Given the description of an element on the screen output the (x, y) to click on. 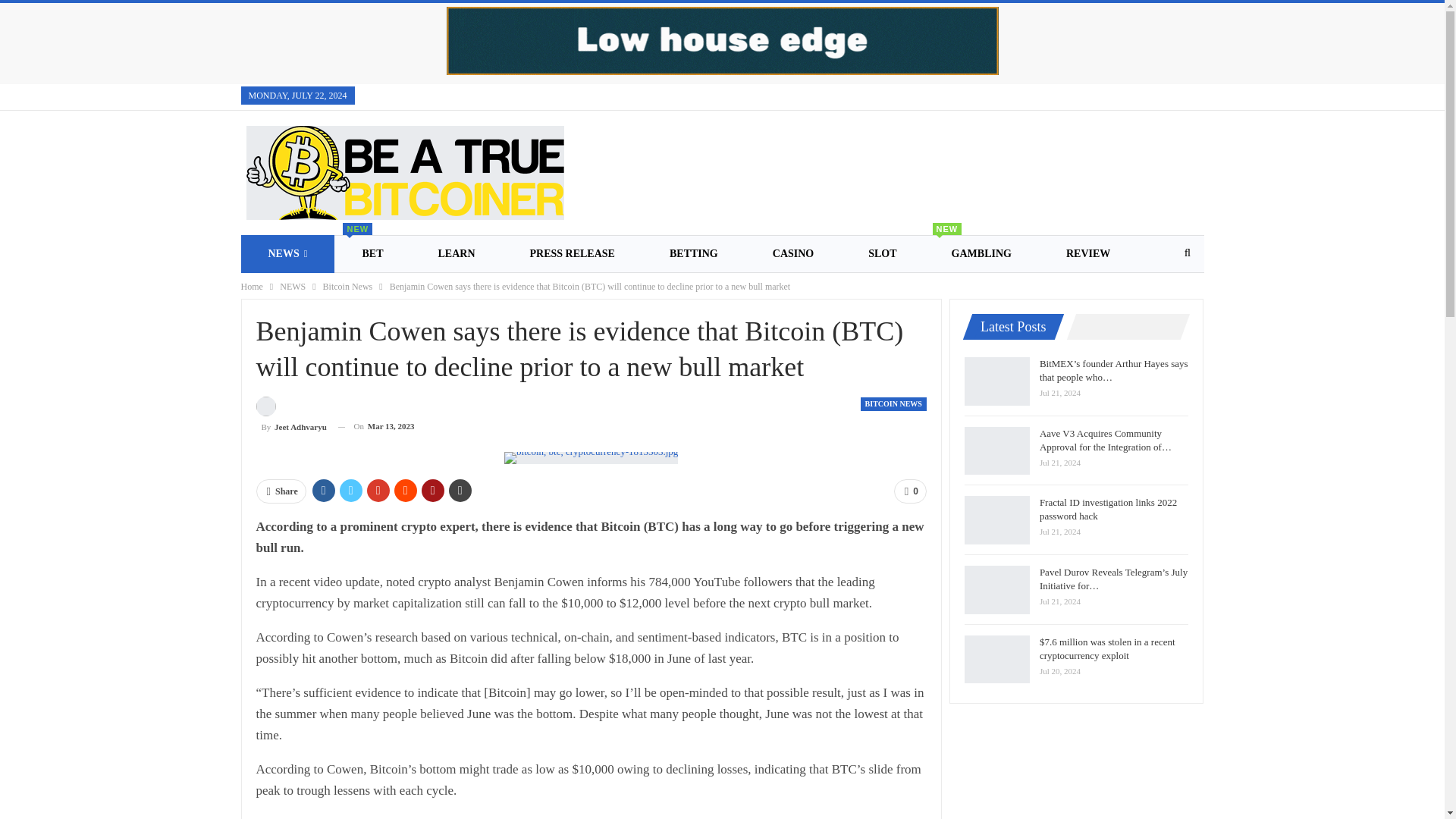
BETTING (981, 253)
NEWS (693, 253)
SERVICES (287, 253)
NEWS (404, 291)
ABOUT US (292, 286)
REVIEW (781, 291)
DISCLAIMER (1088, 253)
CASINO (666, 291)
Browse Author Articles (793, 253)
0 (291, 416)
PRIVACY POLICY (909, 491)
BITCOIN NEWS (531, 291)
DISCOVER (893, 404)
